Given the description of an element on the screen output the (x, y) to click on. 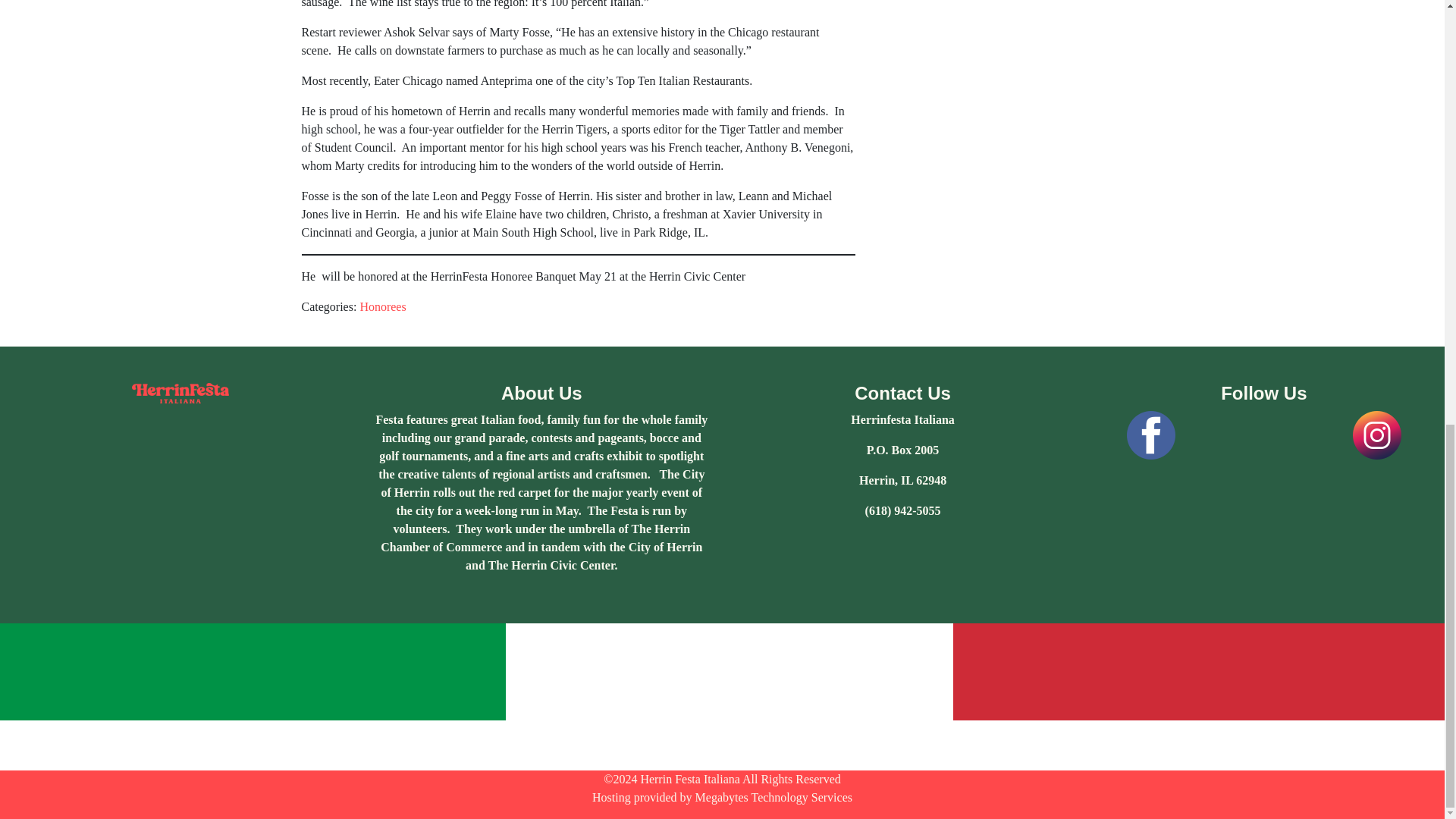
Hosting provided by Megabytes Technology Services (721, 797)
Honorees (382, 306)
